Given the description of an element on the screen output the (x, y) to click on. 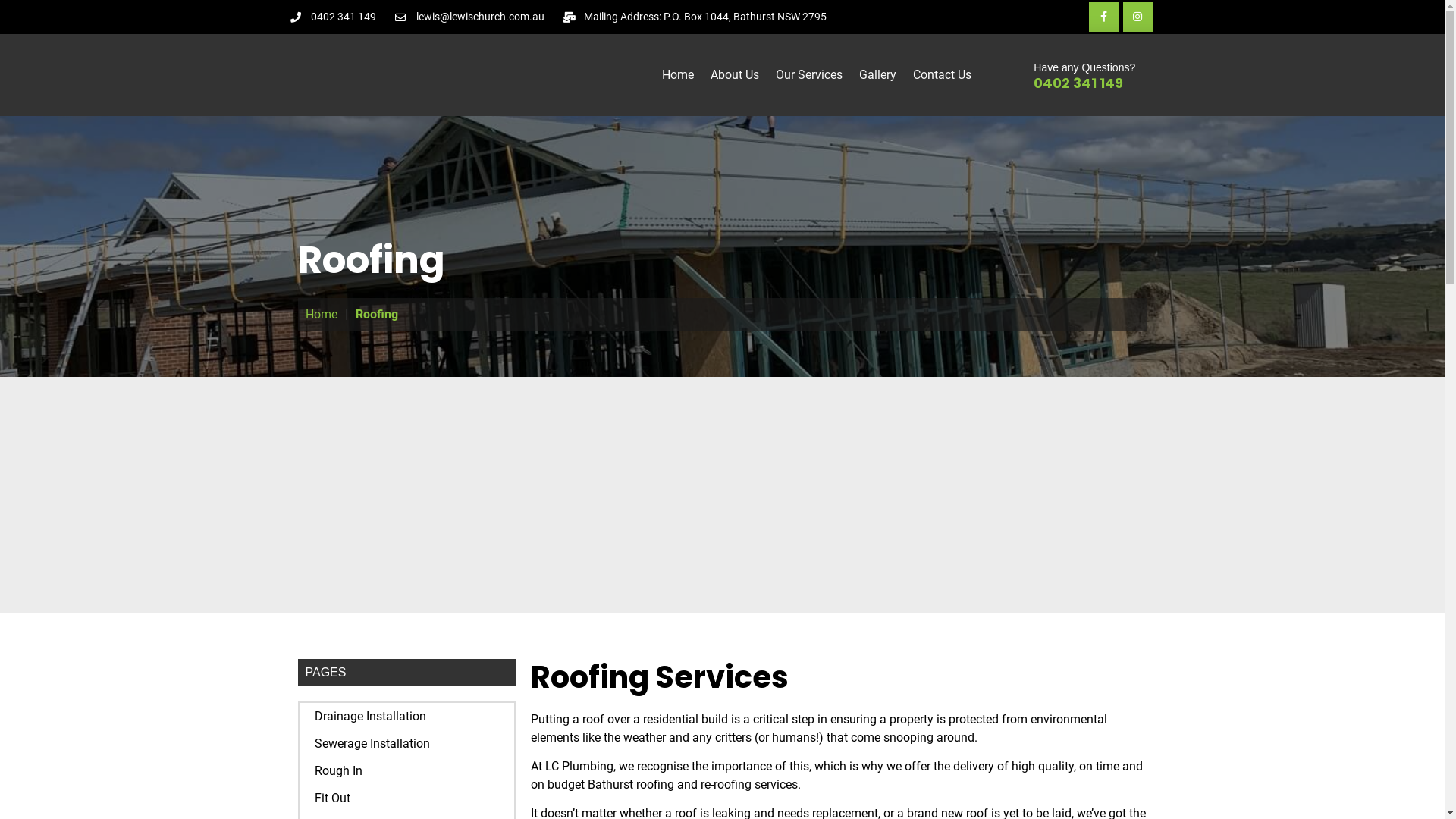
Have any Questions? Element type: text (1084, 67)
Gallery Element type: text (877, 74)
Our Services Element type: text (808, 74)
Sewerage Installation Element type: text (406, 743)
lewis@lewischurch.com.au Element type: text (469, 17)
About Us Element type: text (734, 74)
Contact Us Element type: text (942, 74)
0402 341 149 Element type: text (1078, 82)
Drainage Installation Element type: text (406, 716)
Home Element type: text (320, 314)
Home Element type: text (677, 74)
Fit Out Element type: text (406, 798)
Rough In Element type: text (406, 770)
0402 341 149 Element type: text (332, 17)
